Given the description of an element on the screen output the (x, y) to click on. 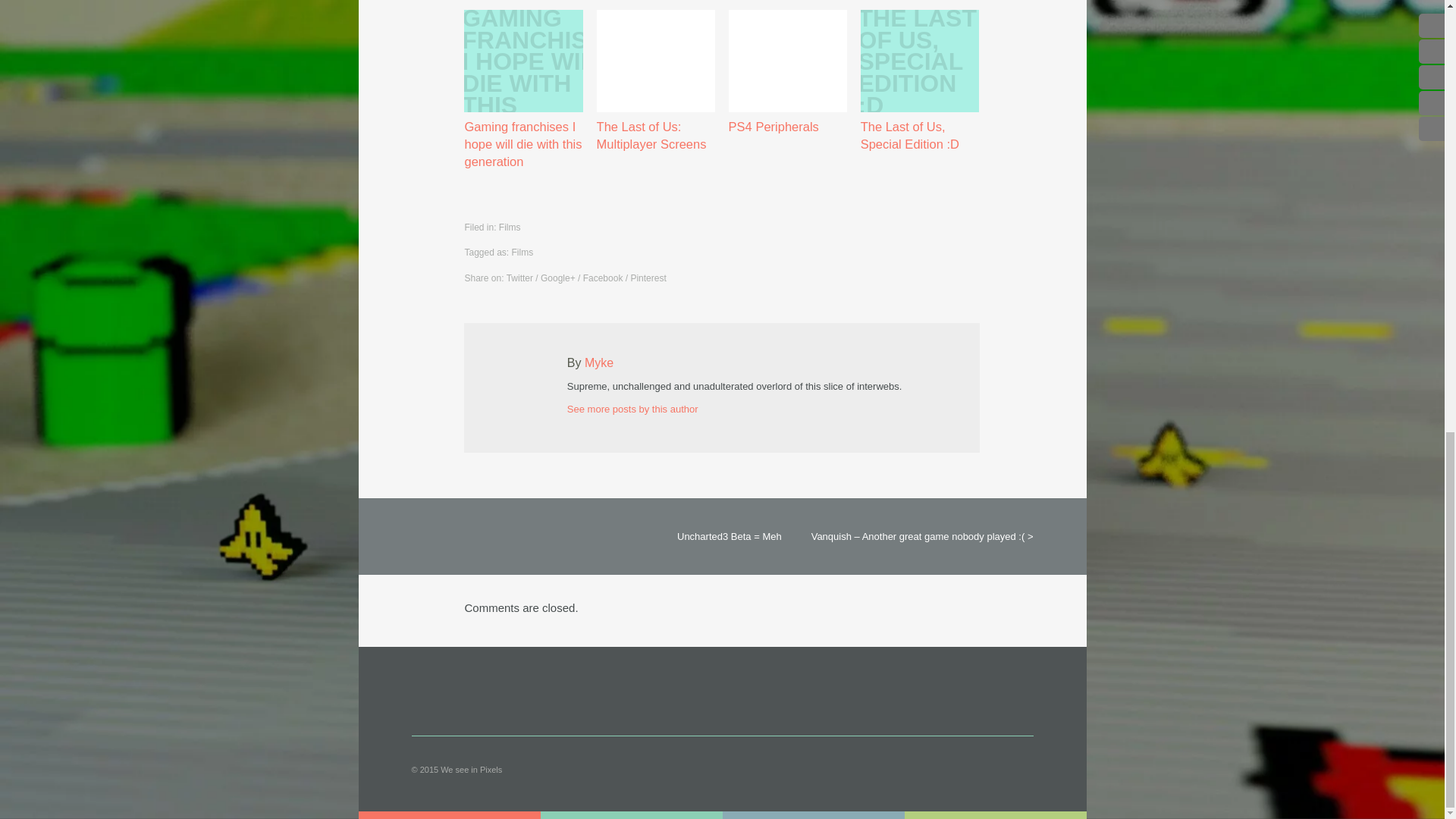
PS4 Peripherals (788, 72)
PS4 Peripherals (788, 72)
Films (510, 226)
Films (523, 252)
Myke (598, 362)
Myke (598, 362)
See more posts by this author (632, 408)
